Given the description of an element on the screen output the (x, y) to click on. 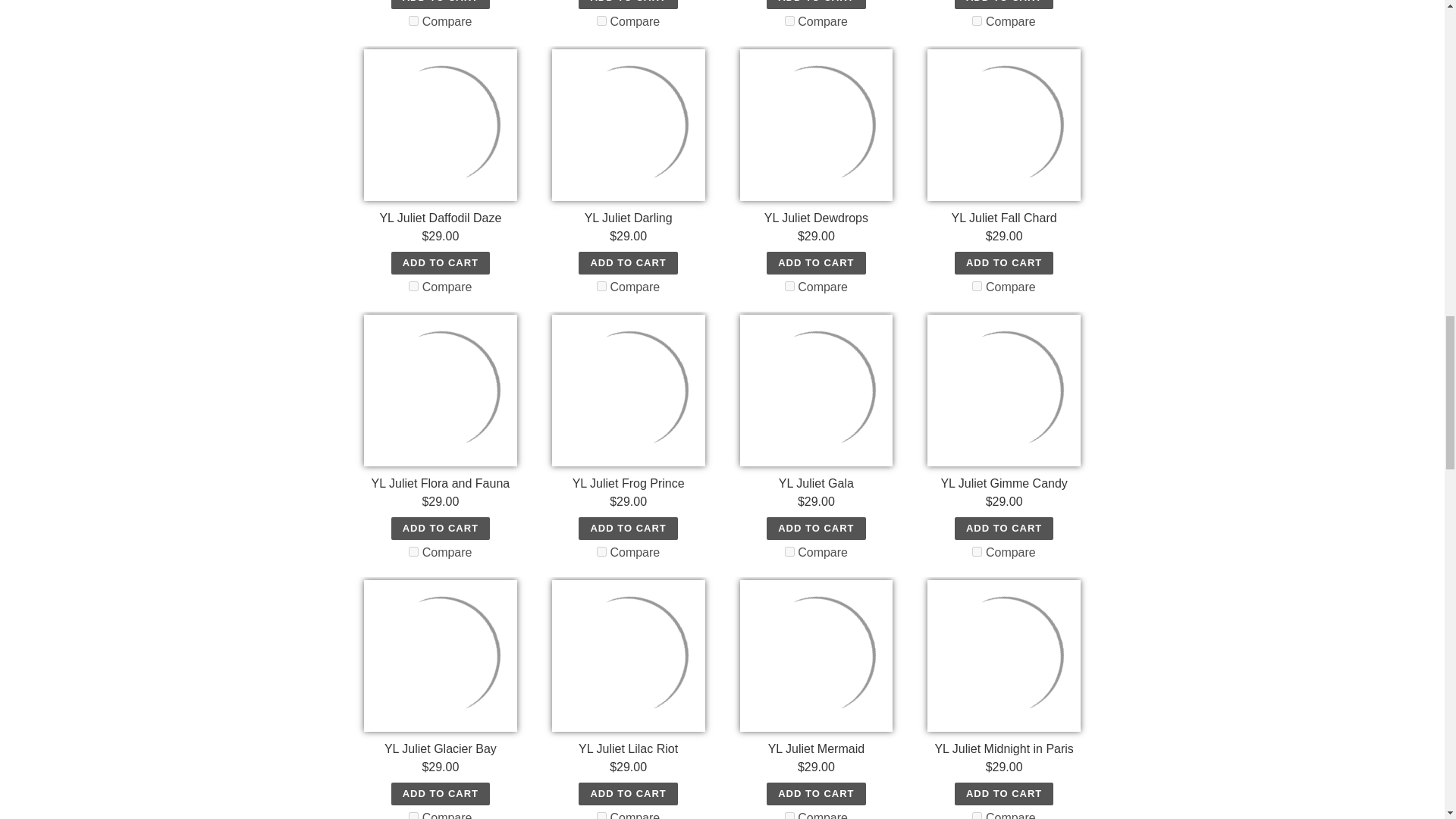
16306 (601, 20)
26557 (414, 20)
12107 (789, 20)
